Given the description of an element on the screen output the (x, y) to click on. 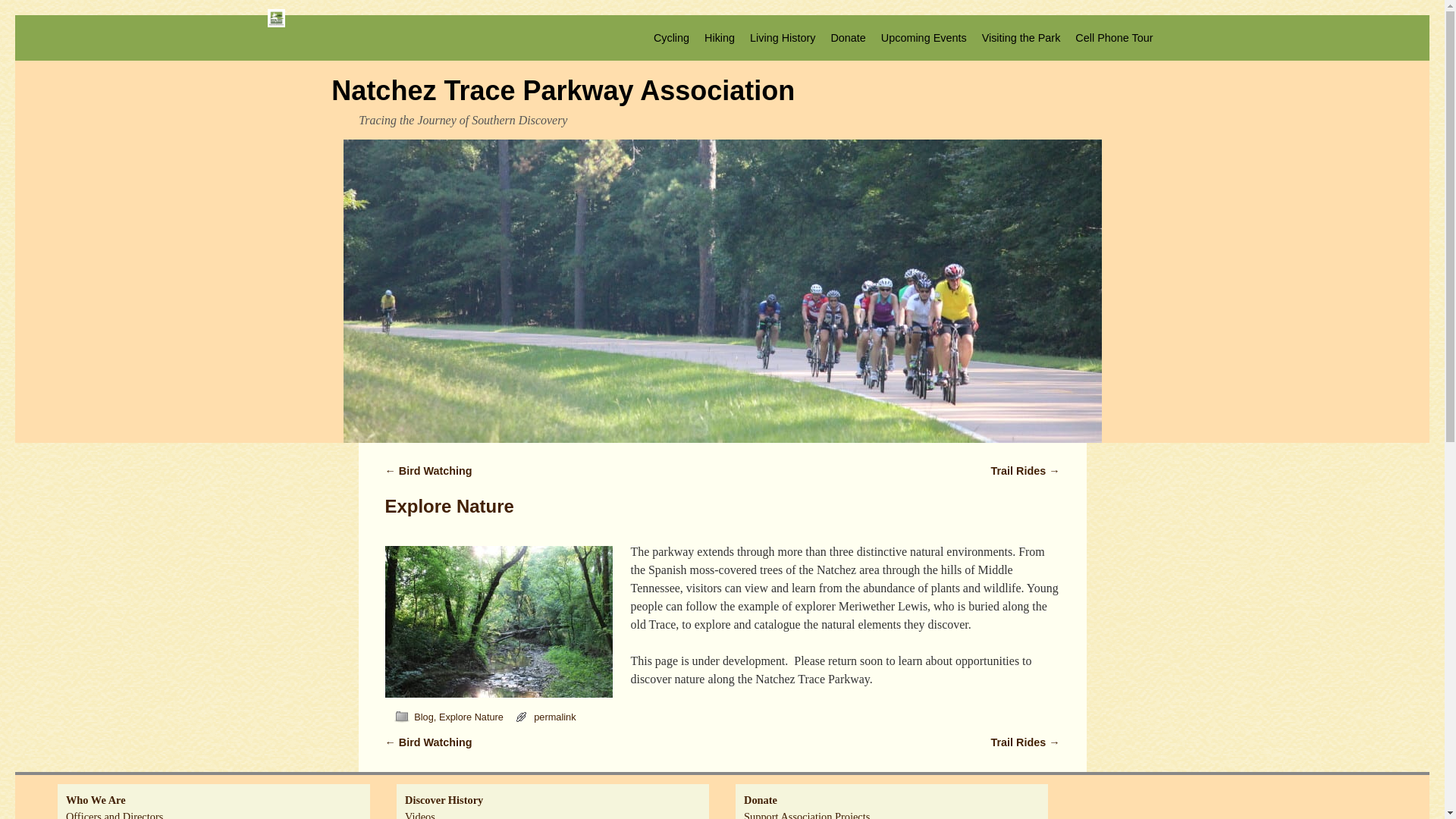
Cycling (671, 37)
Donate (847, 37)
Cell Phone Tour (1113, 37)
Visiting the Park (1021, 37)
Natchez Trace Parkway Association (562, 90)
Skip to secondary content (61, 21)
Natchez Trace Parkway Association (562, 90)
permalink (554, 716)
Hiking (719, 37)
